Given the description of an element on the screen output the (x, y) to click on. 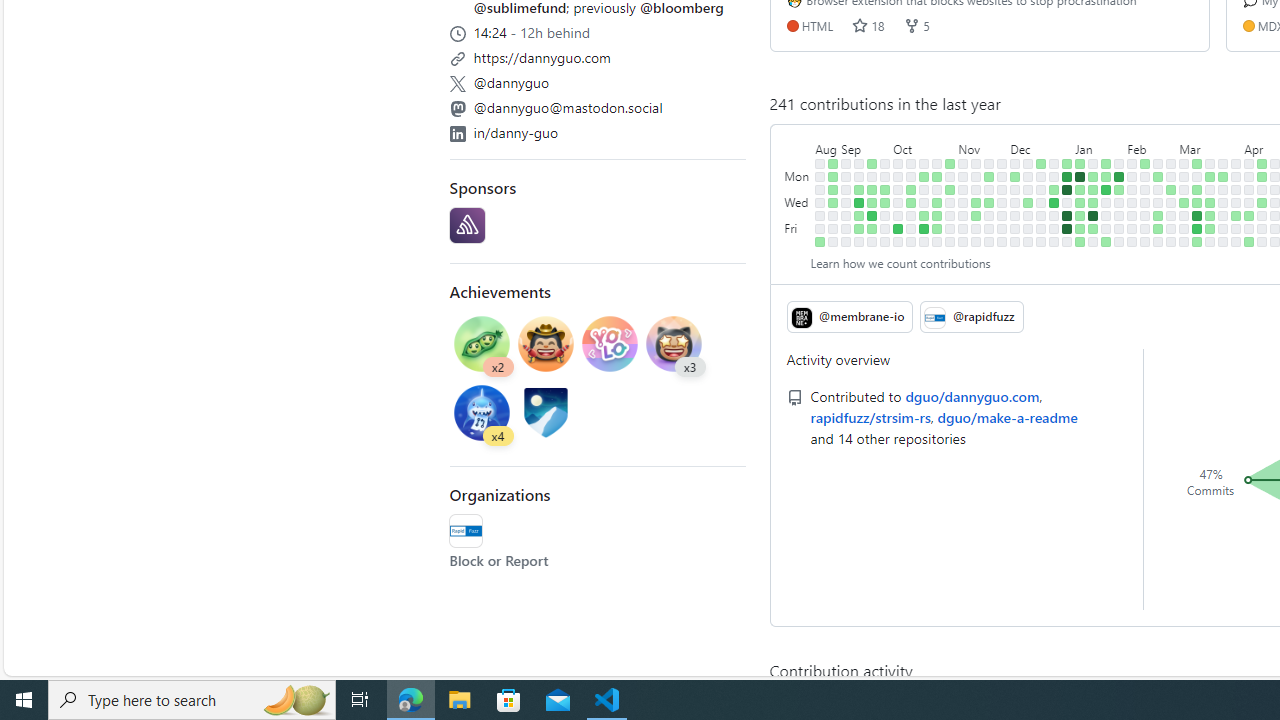
No contributions on March 31st. (1236, 163)
No contributions on August 31st. (833, 215)
No contributions on April 16th. (1262, 189)
No contributions on November 25th. (989, 241)
No contributions on October 30th. (950, 176)
Achievement: Pair Extraordinaire (481, 343)
No contributions on February 6th. (1131, 189)
2 contributions on October 27th. (937, 228)
No contributions on January 25th. (1106, 215)
dguo/make-a-readme (1006, 416)
forks (911, 25)
No contributions on January 6th. (1067, 241)
Monday (797, 176)
No contributions on February 3rd. (1119, 241)
No contributions on November 27th. (1002, 176)
